Given the description of an element on the screen output the (x, y) to click on. 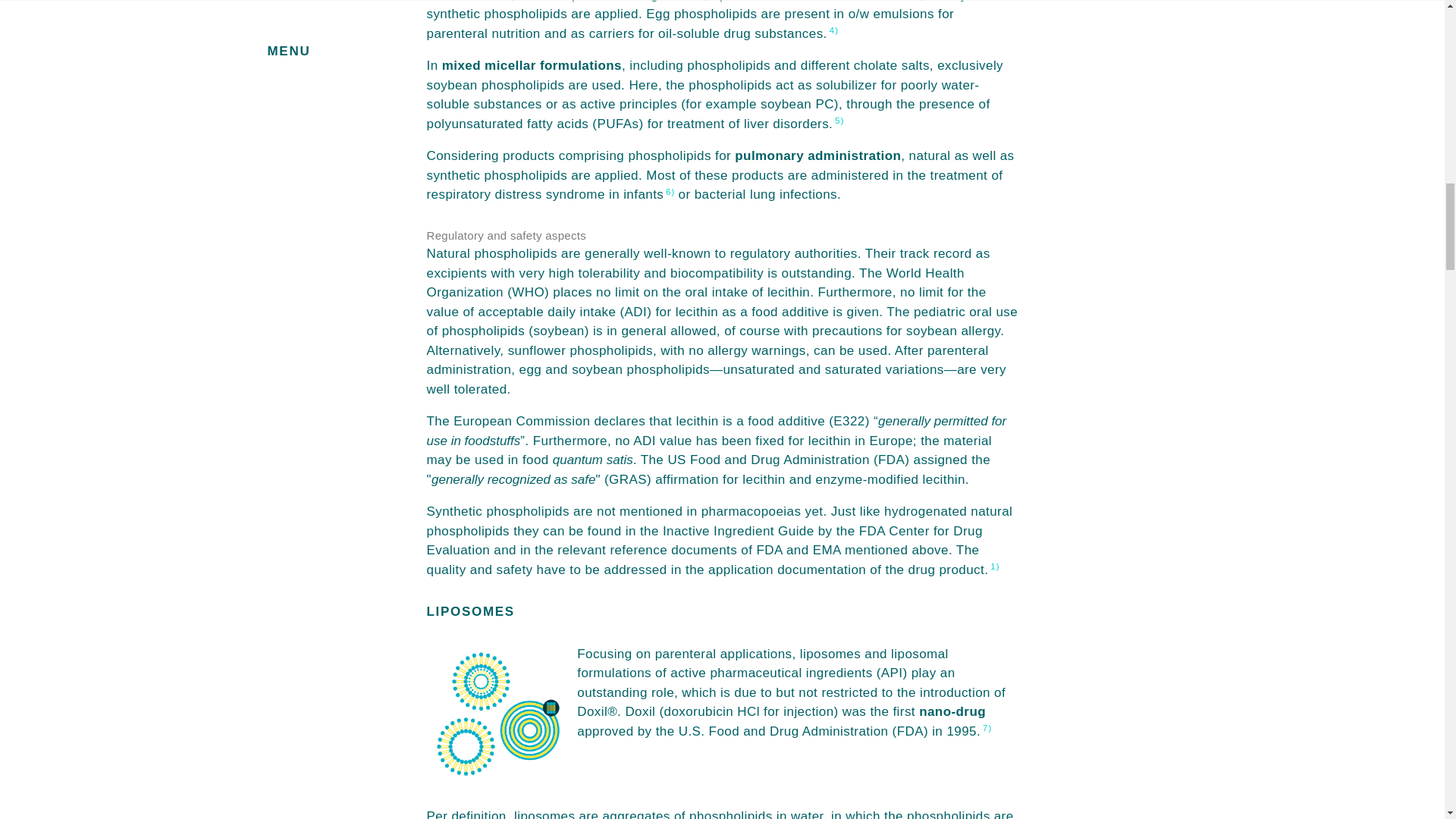
Phospholipid-liposome (496, 713)
